Given the description of an element on the screen output the (x, y) to click on. 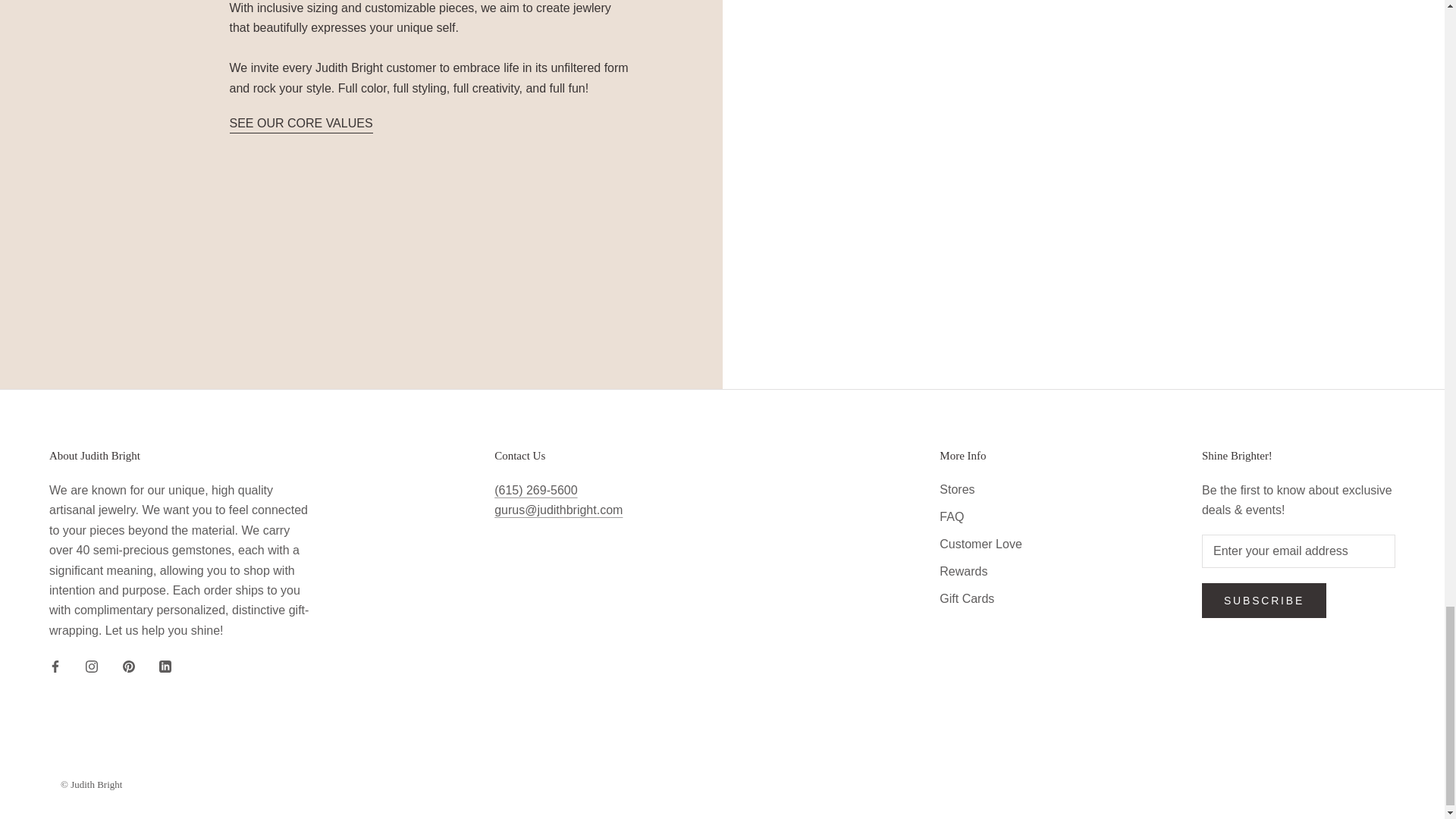
tel:615-269-5600 (535, 490)
